Given the description of an element on the screen output the (x, y) to click on. 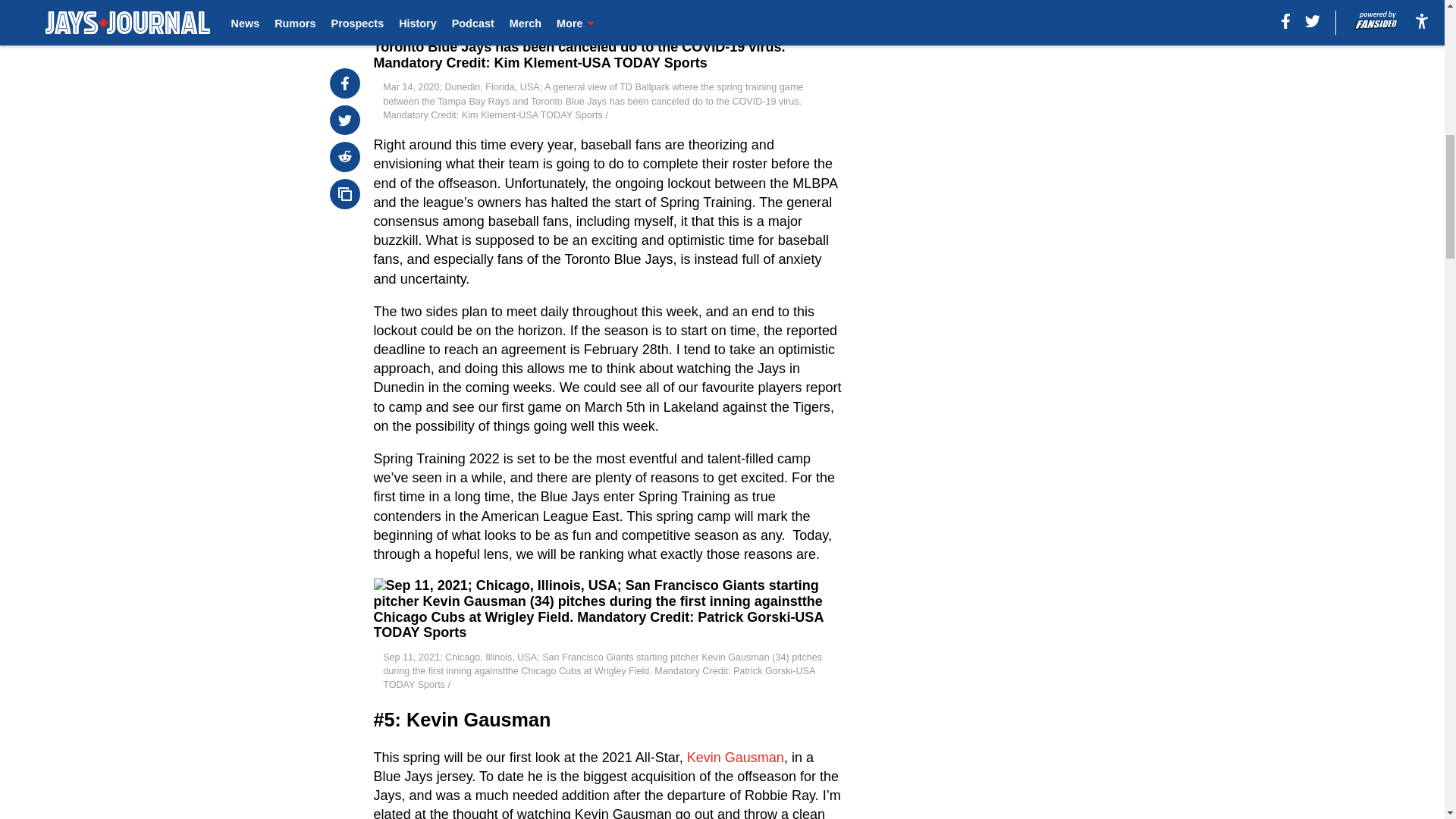
Next (388, 2)
Kevin Gausman (735, 757)
Next (426, 4)
